Given the description of an element on the screen output the (x, y) to click on. 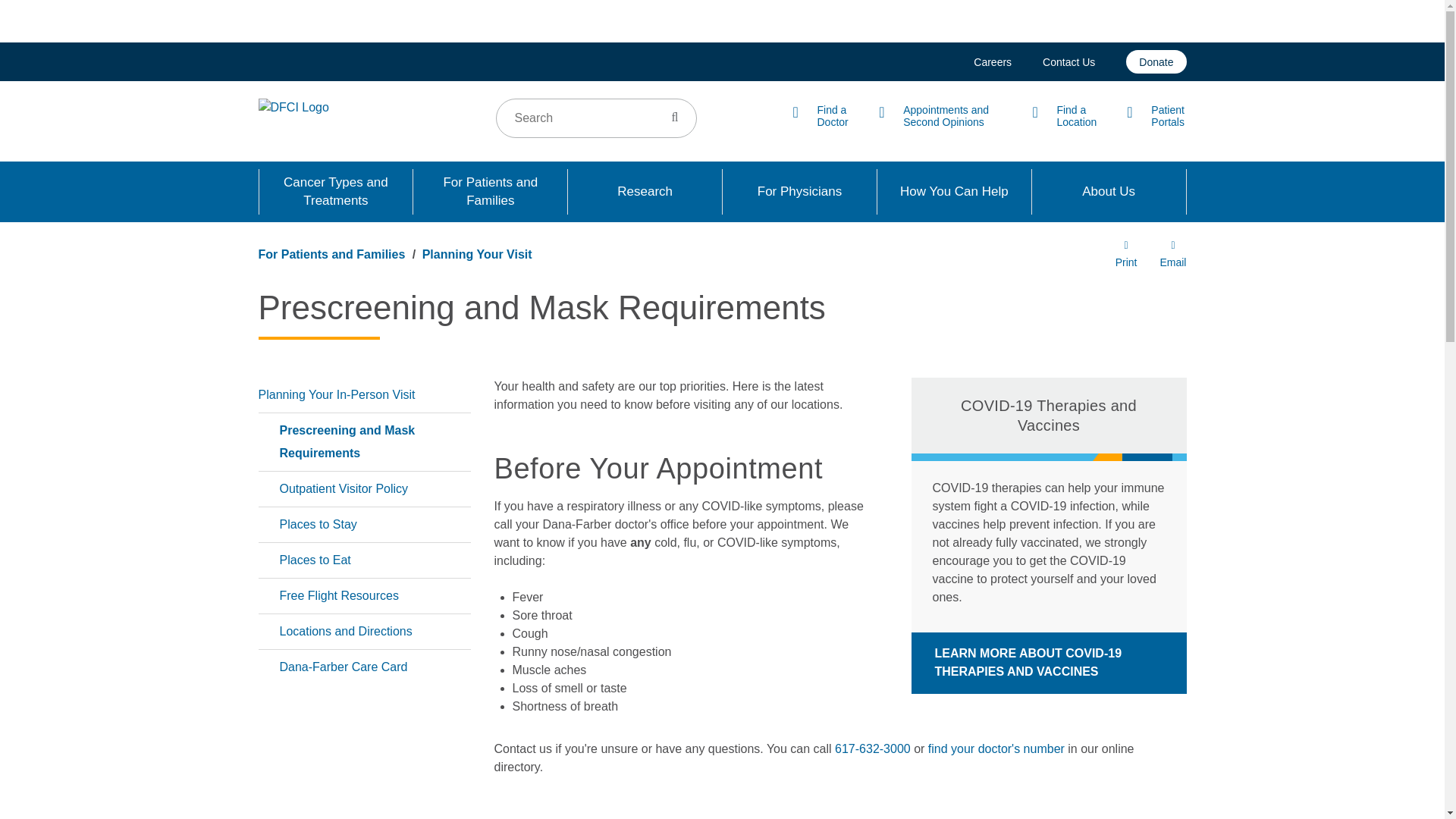
Find a Location (1064, 115)
Find a Doctor (820, 115)
Patient Portals (1156, 115)
Donate (1155, 61)
Cancer Types and Treatments (336, 191)
SEARCH (674, 117)
For Patients and Families (490, 191)
Appointments and Second Opinions (940, 115)
Careers (992, 61)
Contact Us (1068, 61)
